Given the description of an element on the screen output the (x, y) to click on. 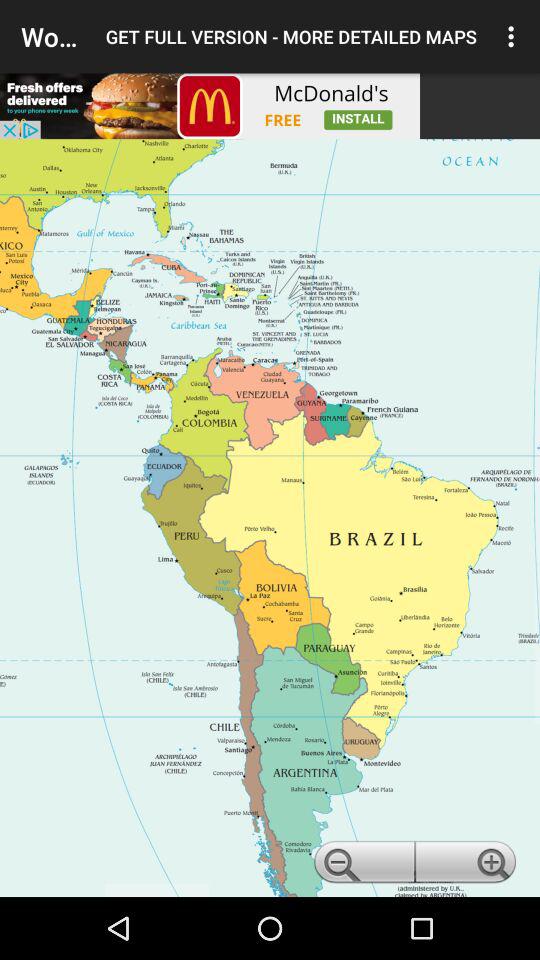
advertisement area (210, 106)
